Given the description of an element on the screen output the (x, y) to click on. 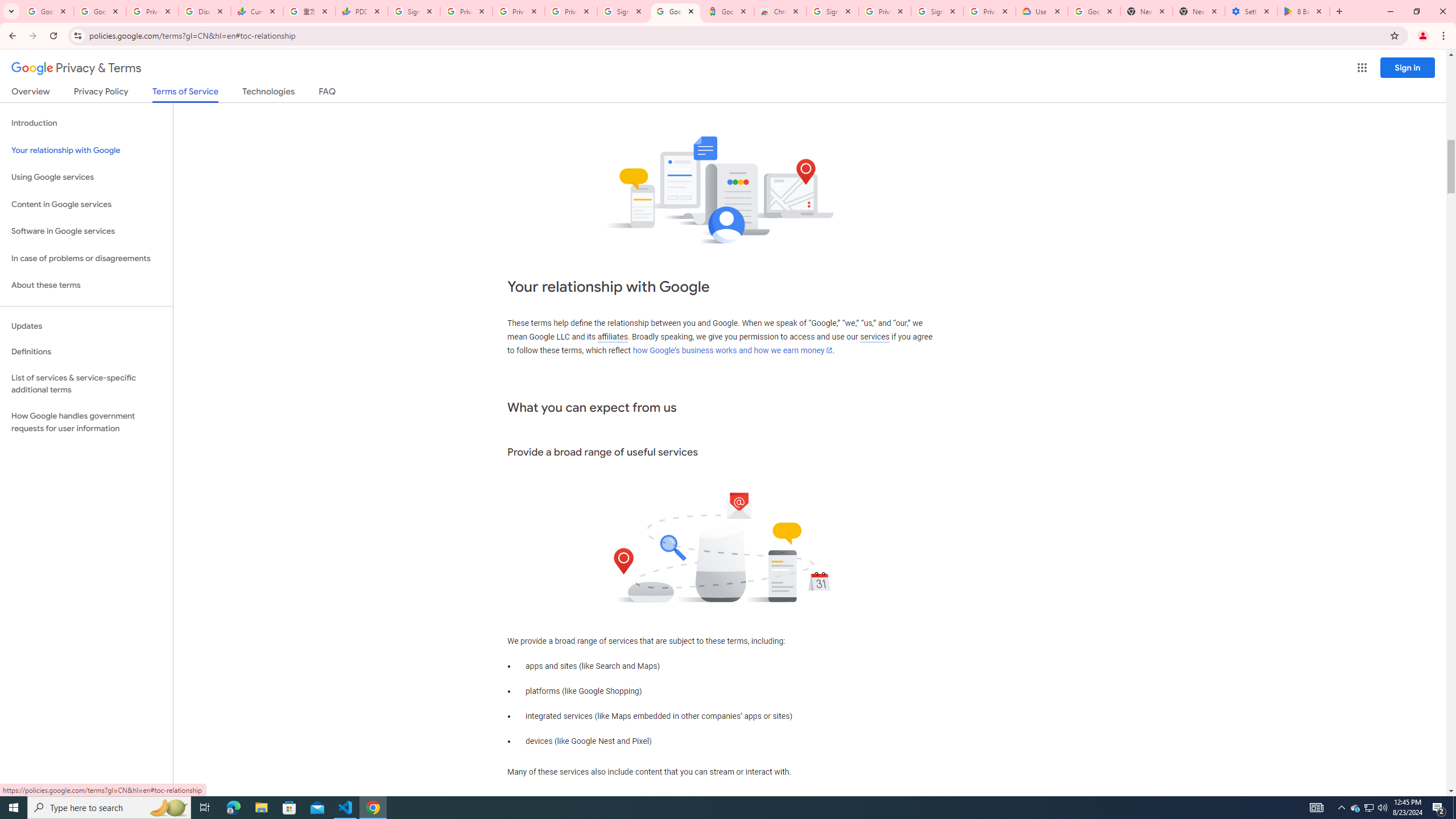
Sign in - Google Accounts (936, 11)
Google (727, 11)
In case of problems or disagreements (86, 258)
List of services & service-specific additional terms (86, 383)
Software in Google services (86, 230)
services (874, 336)
Privacy Checkup (518, 11)
Privacy Checkup (571, 11)
